Given the description of an element on the screen output the (x, y) to click on. 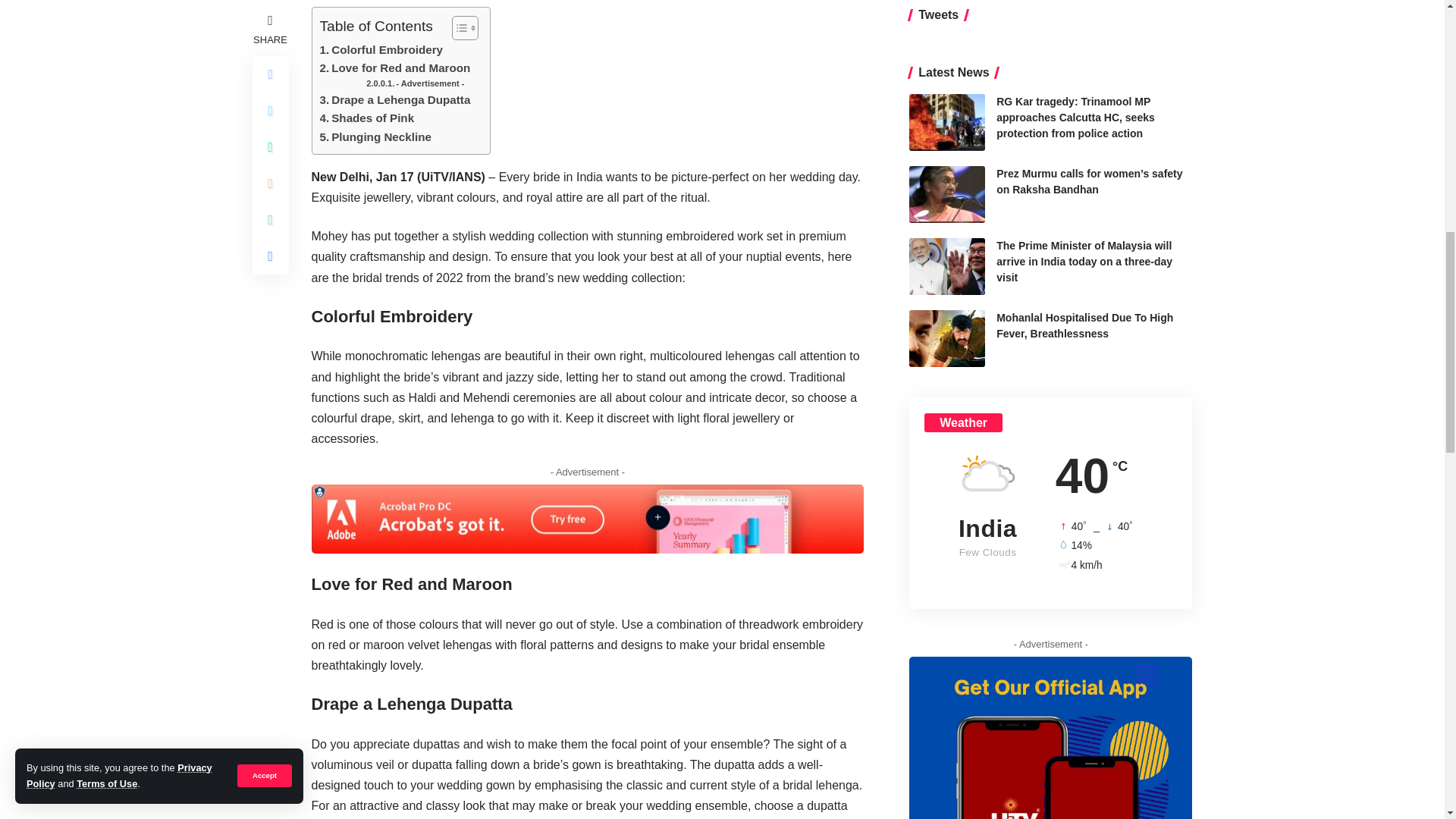
Colorful Embroidery (382, 49)
- Advertisement - (415, 83)
Drape a Lehenga Dupatta (395, 99)
Love for Red and Maroon (395, 67)
